Given the description of an element on the screen output the (x, y) to click on. 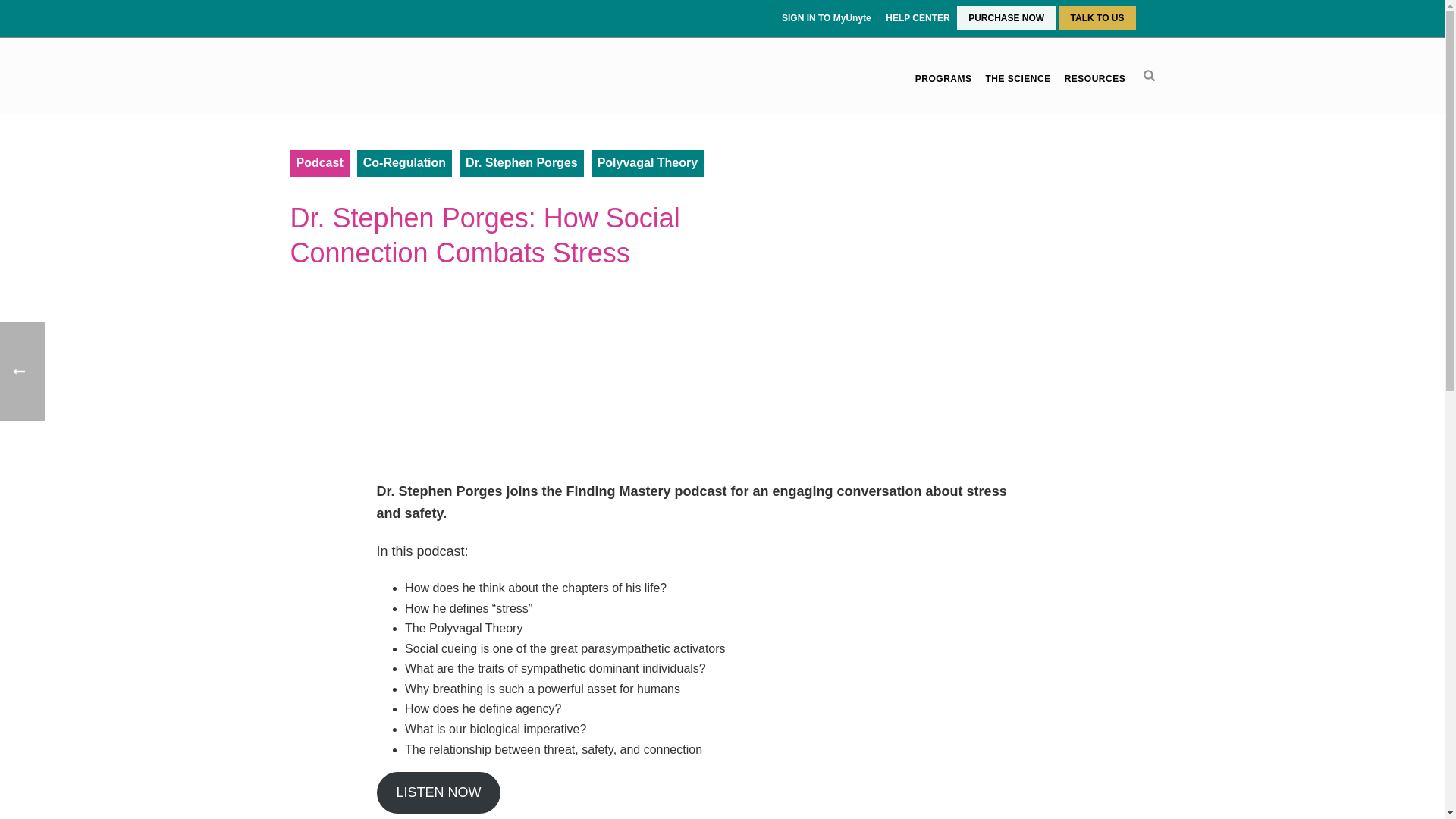
Multi-sensory Listening Therapy for Autism, LD, ADHS and SPD (342, 75)
PROGRAMS (943, 79)
PROGRAMS (943, 79)
THE SCIENCE (1017, 79)
PURCHASE NOW (1005, 17)
SIGN IN TO MyUnyte (828, 18)
TALK TO US (1097, 17)
HELP CENTER (917, 18)
RESOURCES (1095, 79)
